Given the description of an element on the screen output the (x, y) to click on. 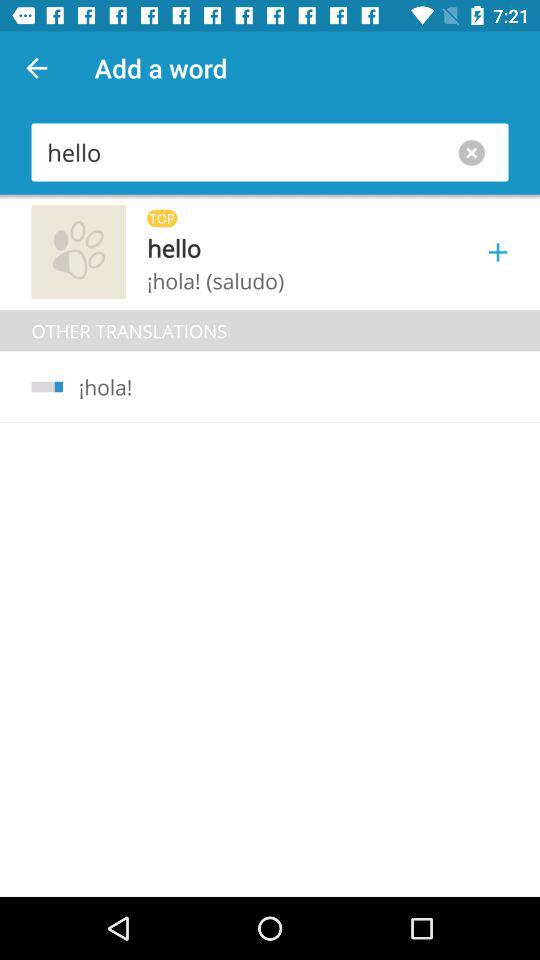
press icon next to the add a word app (36, 68)
